Given the description of an element on the screen output the (x, y) to click on. 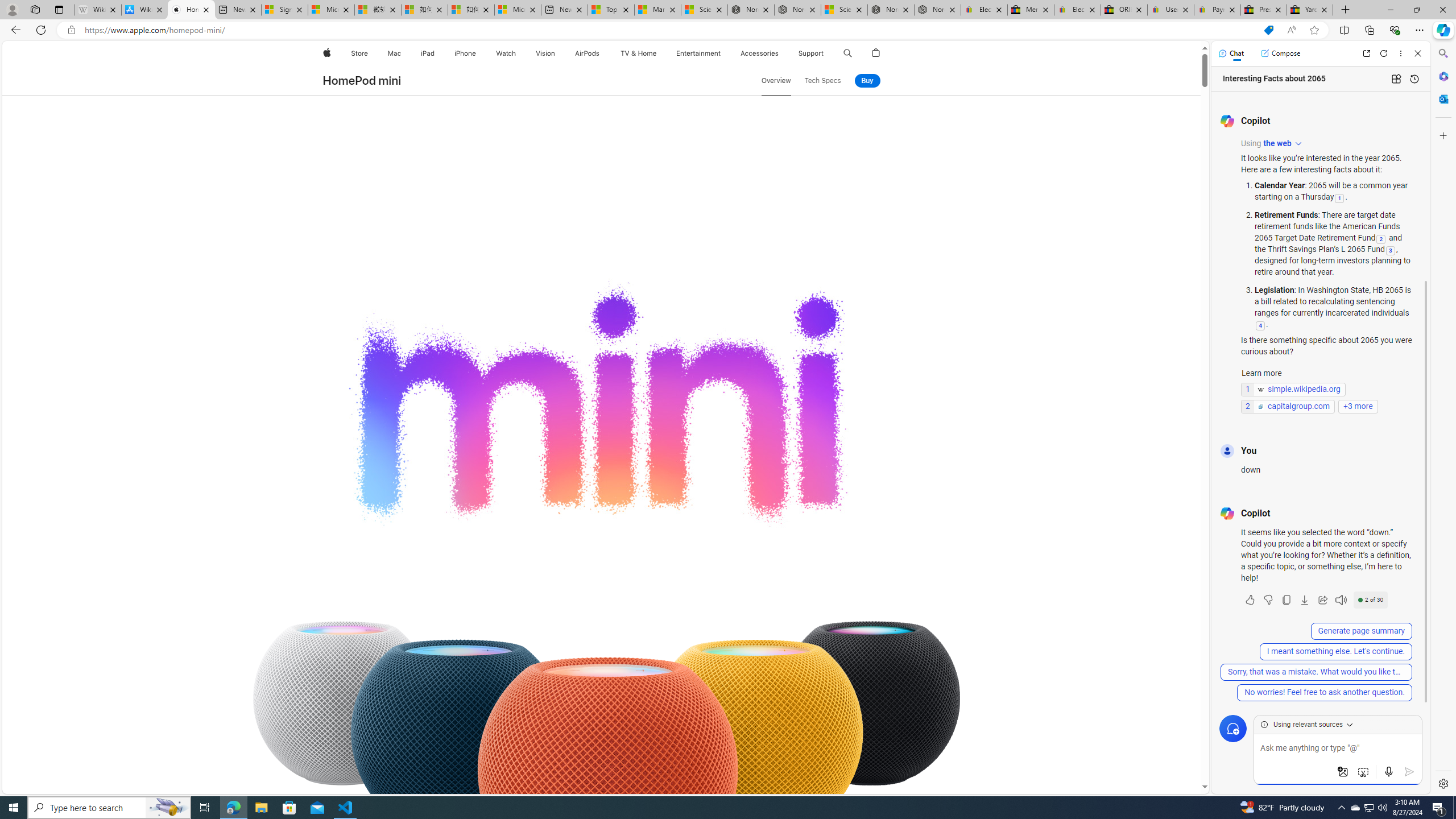
Support menu (825, 53)
Store (359, 53)
iPad menu (435, 53)
Class: globalnav-submenu-trigger-item (825, 53)
Vision menu (557, 53)
AirPods (587, 53)
